Given the description of an element on the screen output the (x, y) to click on. 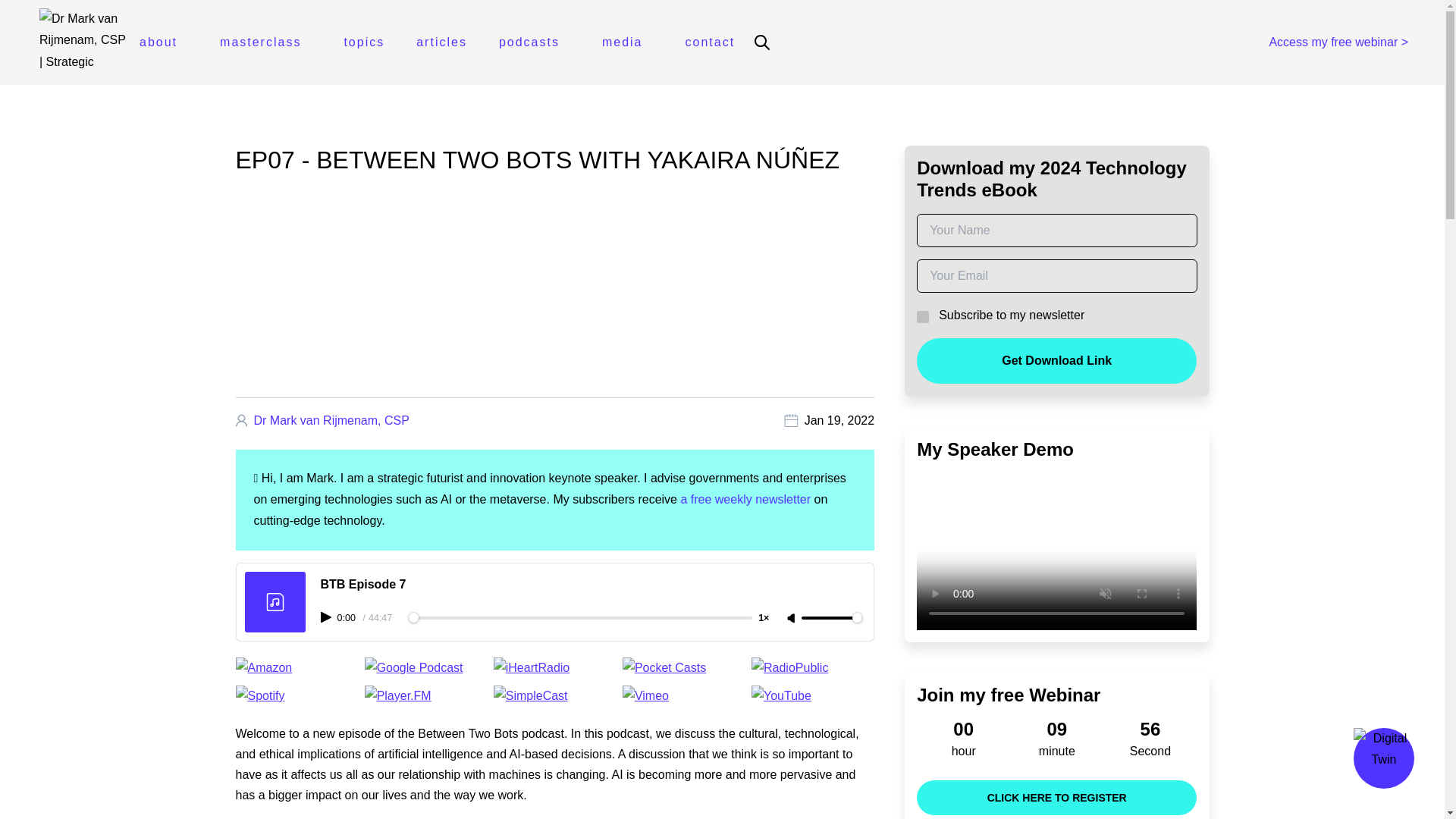
100 (831, 617)
iHeartRadio (554, 667)
RadioPublic (813, 667)
Pocket Casts (684, 667)
Spotify (296, 695)
Google Podcast (426, 667)
Player.FM (426, 695)
YouTube (813, 695)
Vimeo (684, 695)
castbox (554, 695)
Amazon (296, 667)
No (921, 316)
